Given the description of an element on the screen output the (x, y) to click on. 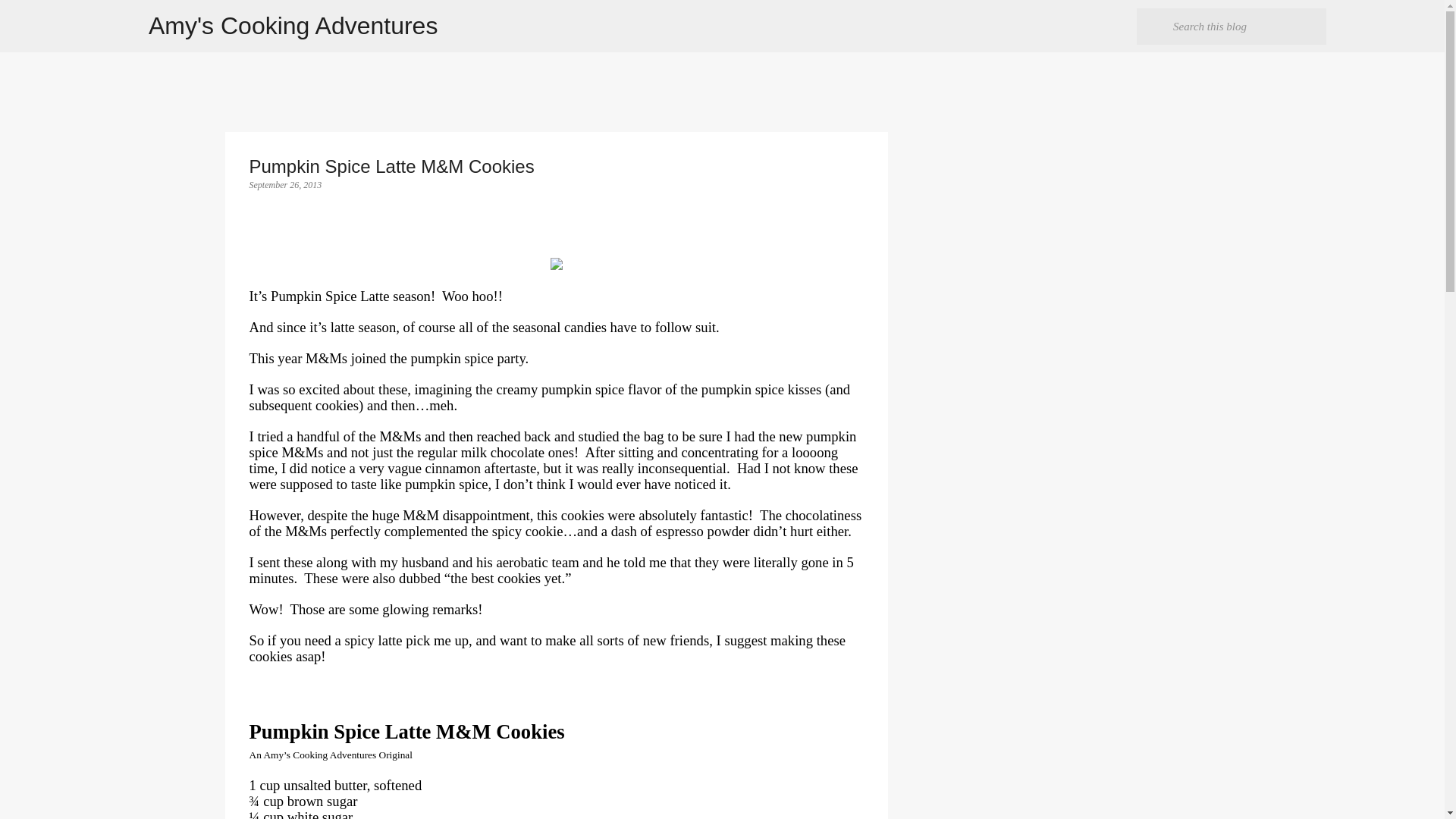
September 26, 2013 (284, 184)
Amy's Cooking Adventures (293, 25)
permanent link (284, 184)
